Given the description of an element on the screen output the (x, y) to click on. 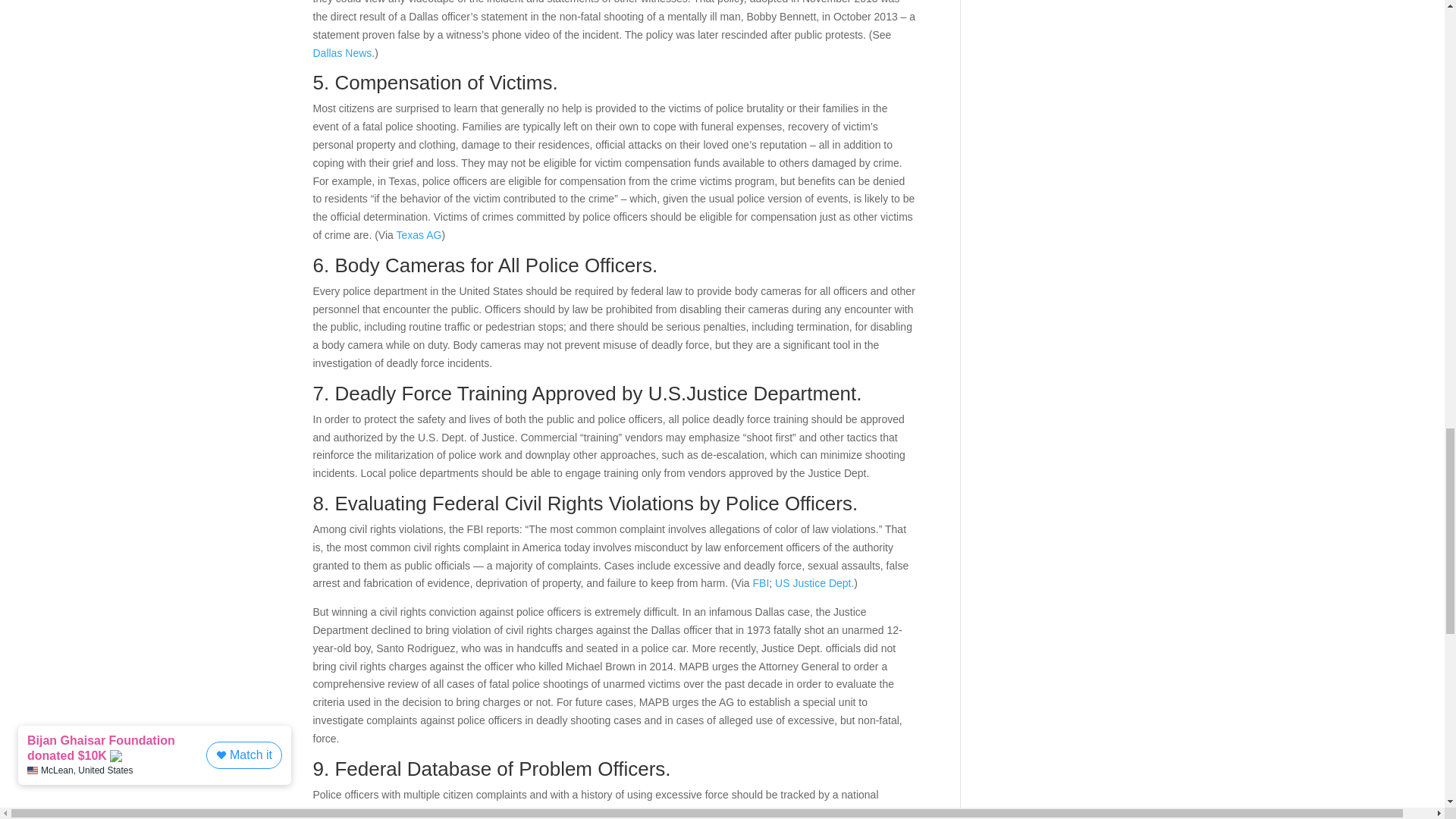
US Justice Dept. (813, 582)
Texas AG (418, 234)
Dallas News (342, 52)
FBI (761, 582)
